Given the description of an element on the screen output the (x, y) to click on. 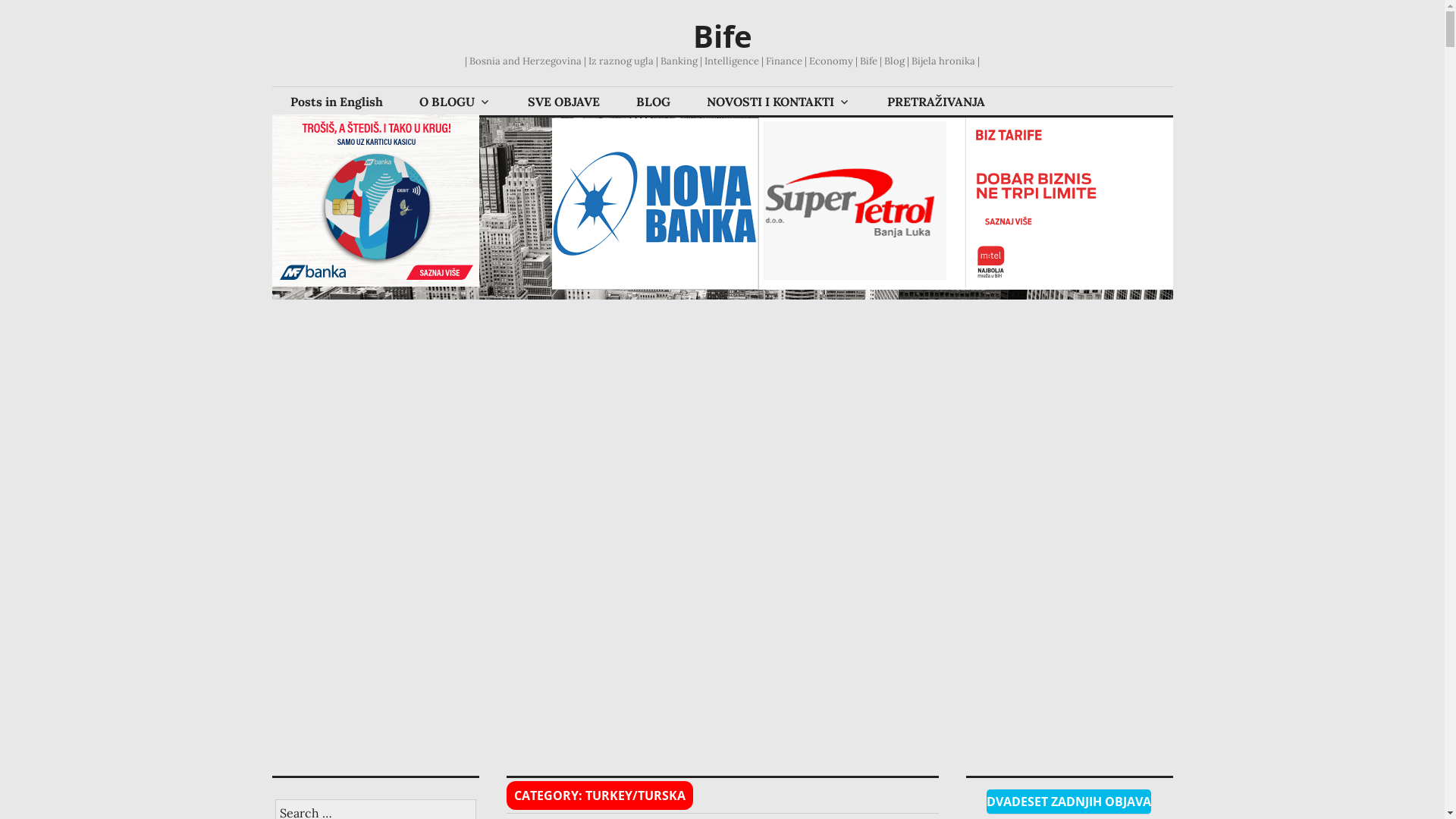
Search Element type: text (9, 4)
Posts in English Element type: text (335, 101)
O BLOGU Element type: text (454, 101)
Bife Element type: text (722, 35)
SVE OBJAVE Element type: text (563, 101)
NOVOSTI I KONTAKTI Element type: text (778, 101)
BLOG Element type: text (652, 101)
